Given the description of an element on the screen output the (x, y) to click on. 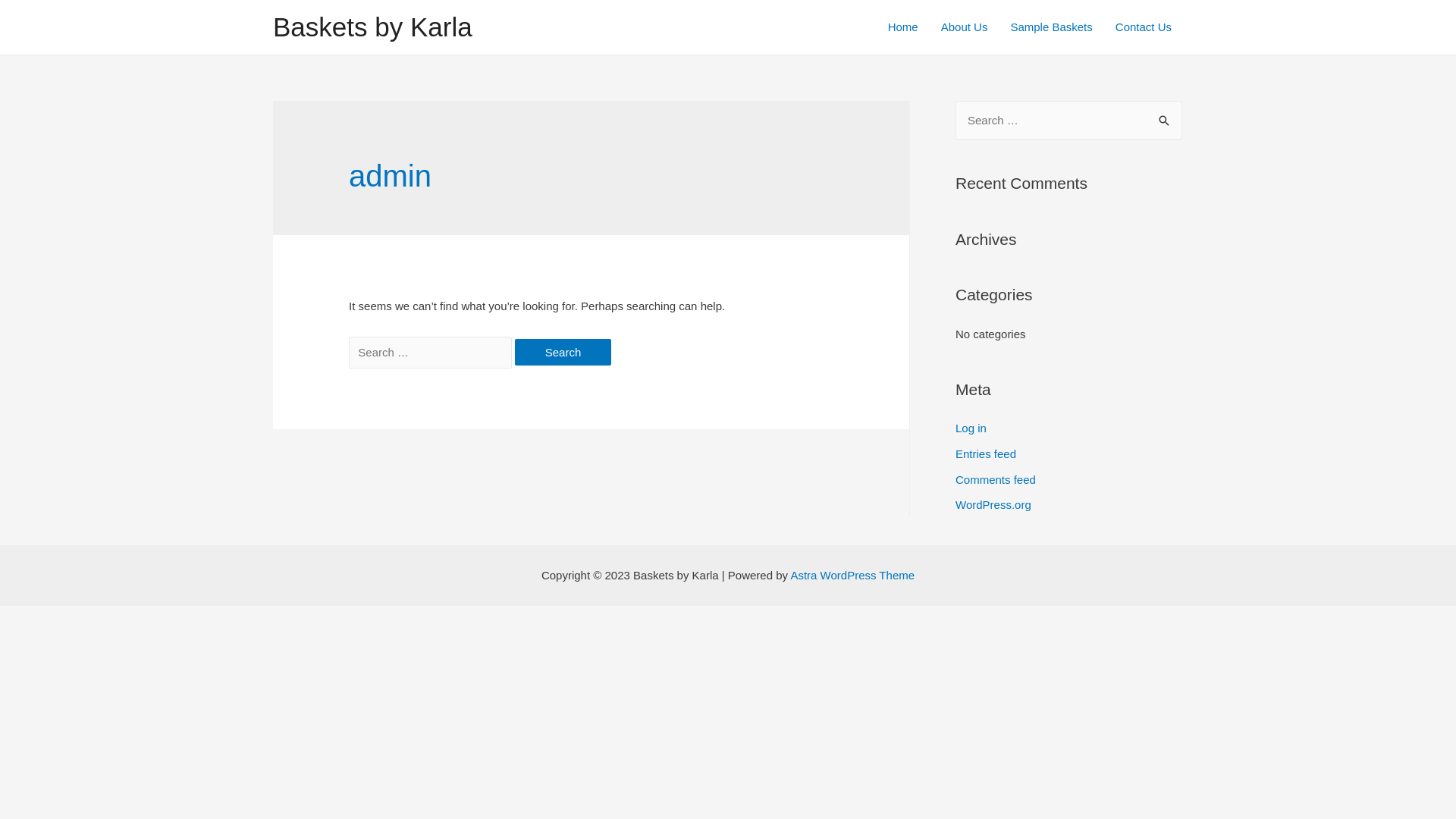
Search Element type: text (1165, 115)
Contact Us Element type: text (1143, 26)
WordPress.org Element type: text (993, 504)
Search Element type: text (562, 351)
Home Element type: text (902, 26)
Astra WordPress Theme Element type: text (852, 574)
Entries feed Element type: text (985, 453)
Baskets by Karla Element type: text (372, 26)
Sample Baskets Element type: text (1050, 26)
About Us Element type: text (964, 26)
Log in Element type: text (970, 427)
Comments feed Element type: text (995, 479)
